Given the description of an element on the screen output the (x, y) to click on. 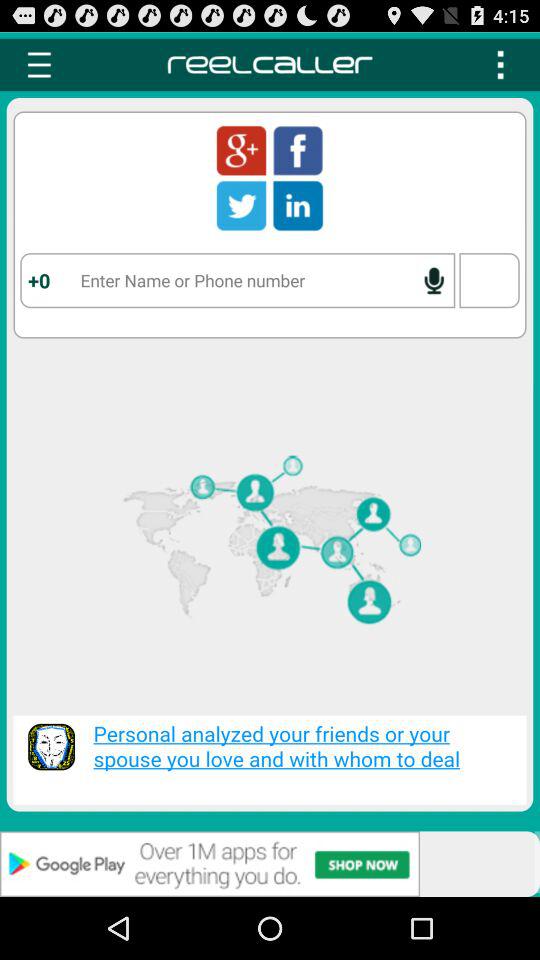
voice search (434, 280)
